Given the description of an element on the screen output the (x, y) to click on. 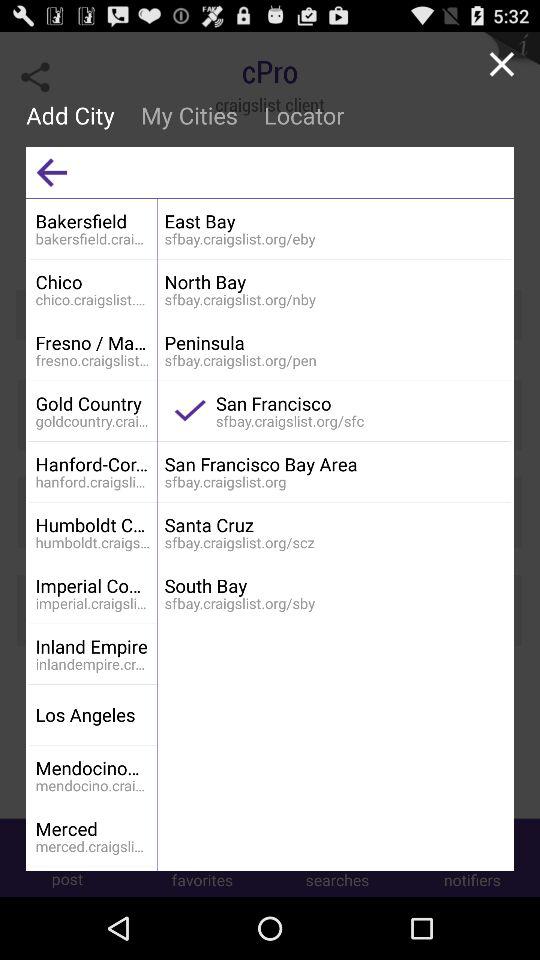
jump to peninsula item (334, 342)
